Given the description of an element on the screen output the (x, y) to click on. 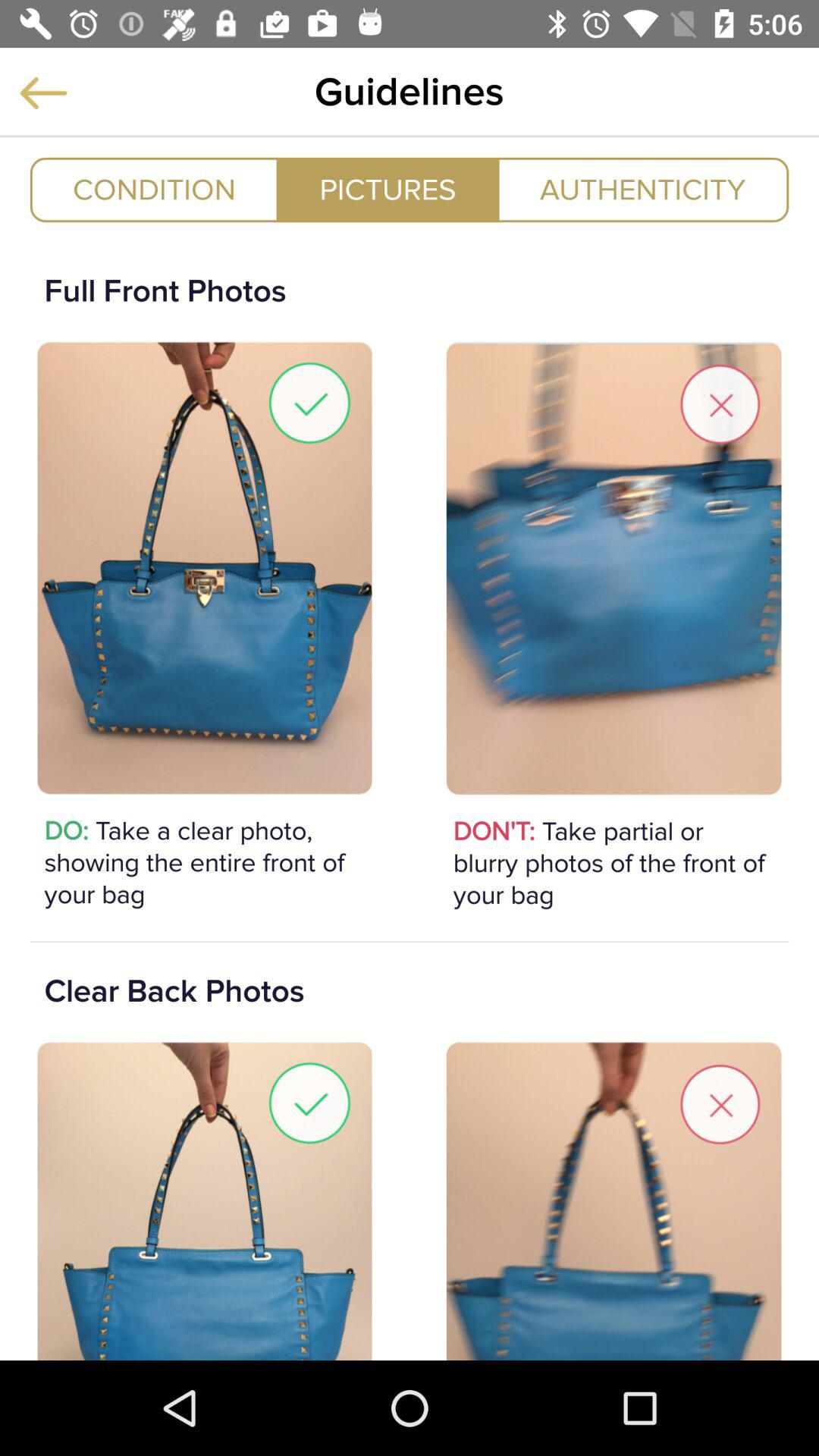
scroll until the authenticity item (642, 189)
